Given the description of an element on the screen output the (x, y) to click on. 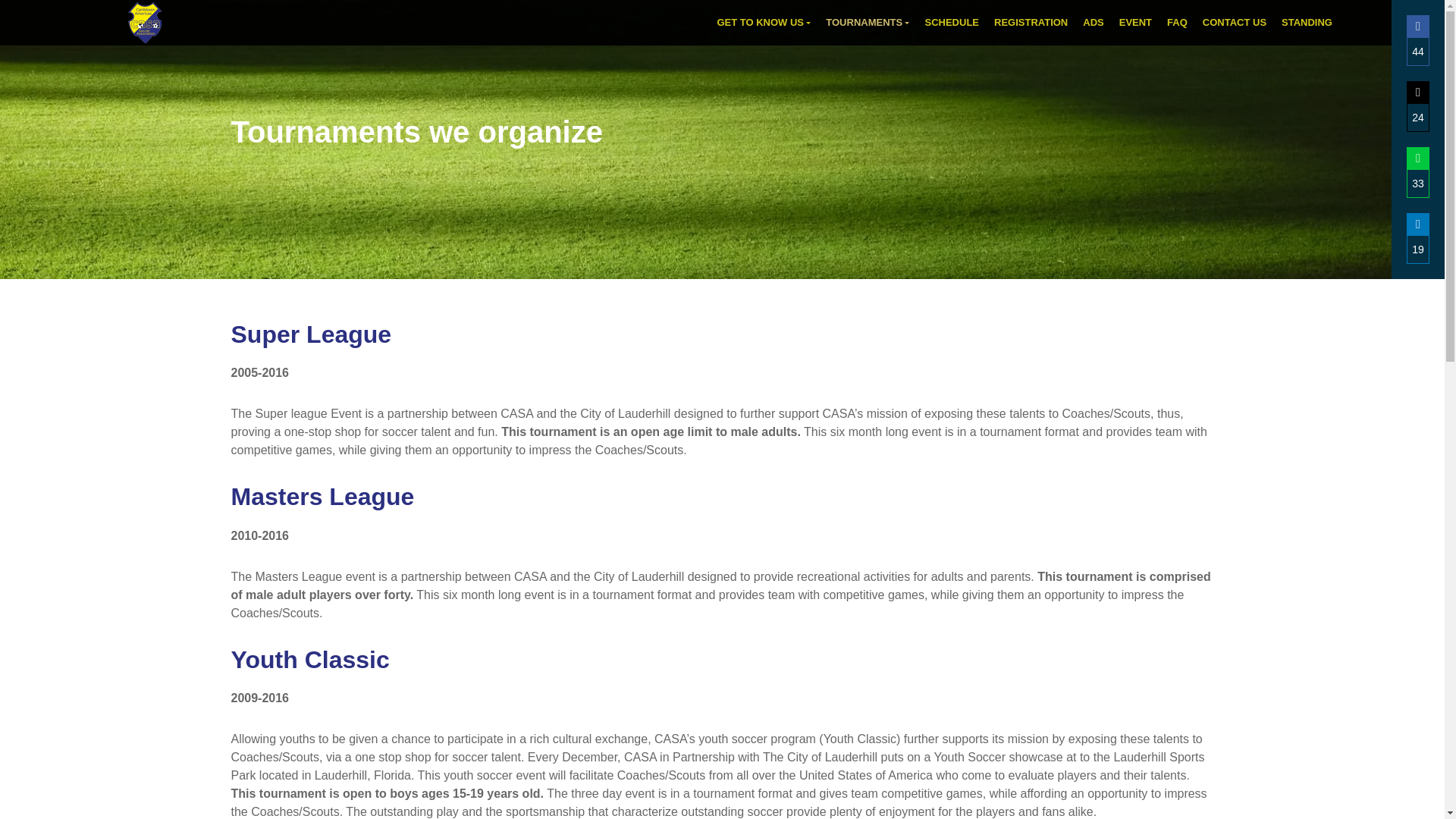
GET TO KNOW US (764, 22)
FAQ (1178, 22)
ADS (1094, 22)
EVENT (1136, 22)
TOURNAMENTS (868, 22)
STANDING (1307, 22)
REGISTRATION (1032, 22)
CONTACT US (1235, 22)
SCHEDULE (953, 22)
